Given the description of an element on the screen output the (x, y) to click on. 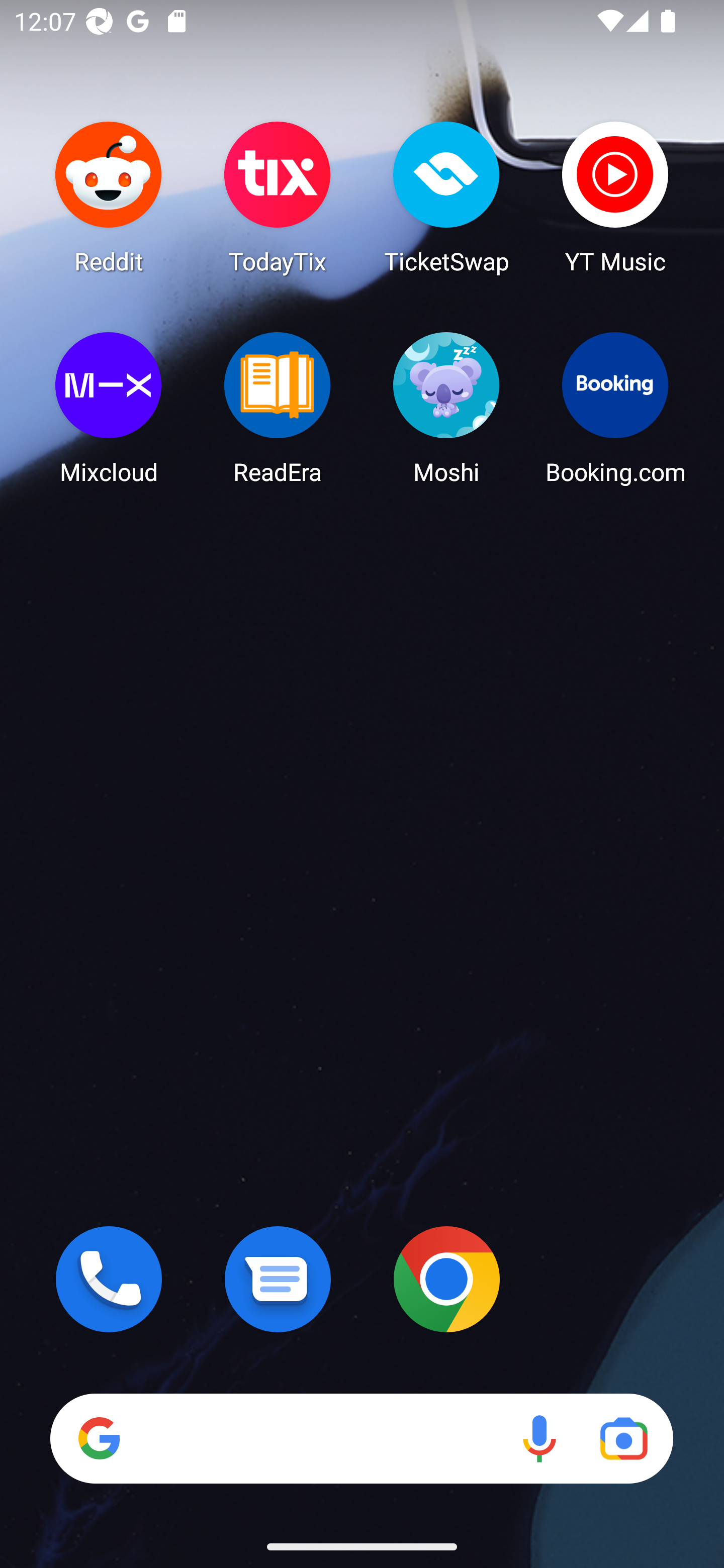
Reddit (108, 196)
TodayTix (277, 196)
TicketSwap (445, 196)
YT Music (615, 196)
Mixcloud (108, 407)
ReadEra (277, 407)
Moshi (445, 407)
Booking.com (615, 407)
Phone (108, 1279)
Messages (277, 1279)
Chrome (446, 1279)
Search Voice search Google Lens (361, 1438)
Voice search (539, 1438)
Google Lens (623, 1438)
